Given the description of an element on the screen output the (x, y) to click on. 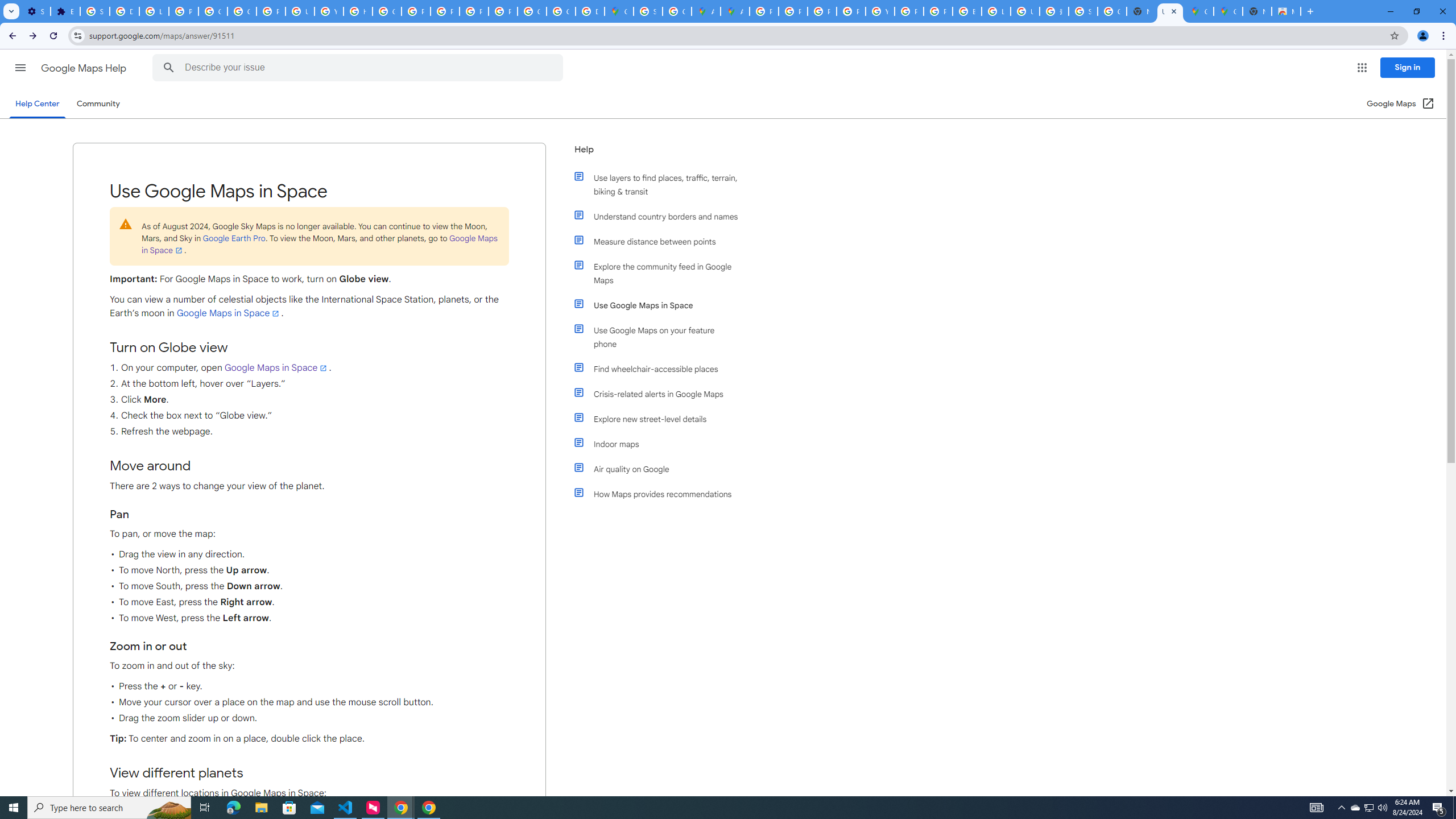
Crisis-related alerts in Google Maps (661, 394)
Google Maps in Space (276, 367)
Privacy Help Center - Policies Help (415, 11)
YouTube (327, 11)
Indoor maps (661, 444)
Find wheelchair-accessible places (661, 368)
Create your Google Account (677, 11)
